Given the description of an element on the screen output the (x, y) to click on. 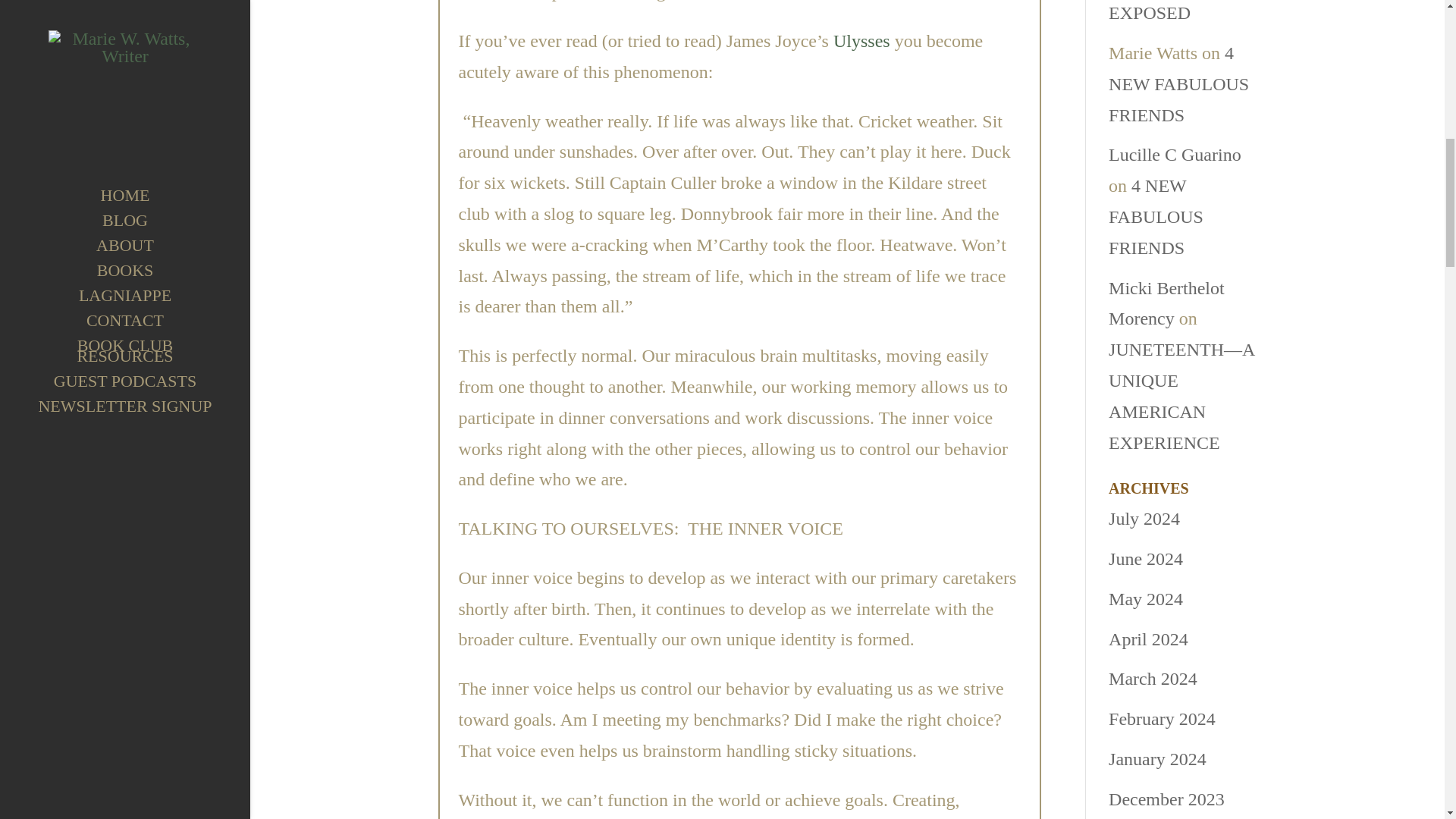
Lucille C Guarino (1174, 154)
Micki Berthelot Morency (1166, 303)
4 NEW FABULOUS FRIENDS (1156, 216)
4 NEW FABULOUS FRIENDS (1178, 84)
July 2024 (1143, 518)
May 2024 (1145, 598)
Ulysses (860, 40)
June 2024 (1145, 558)
